Given the description of an element on the screen output the (x, y) to click on. 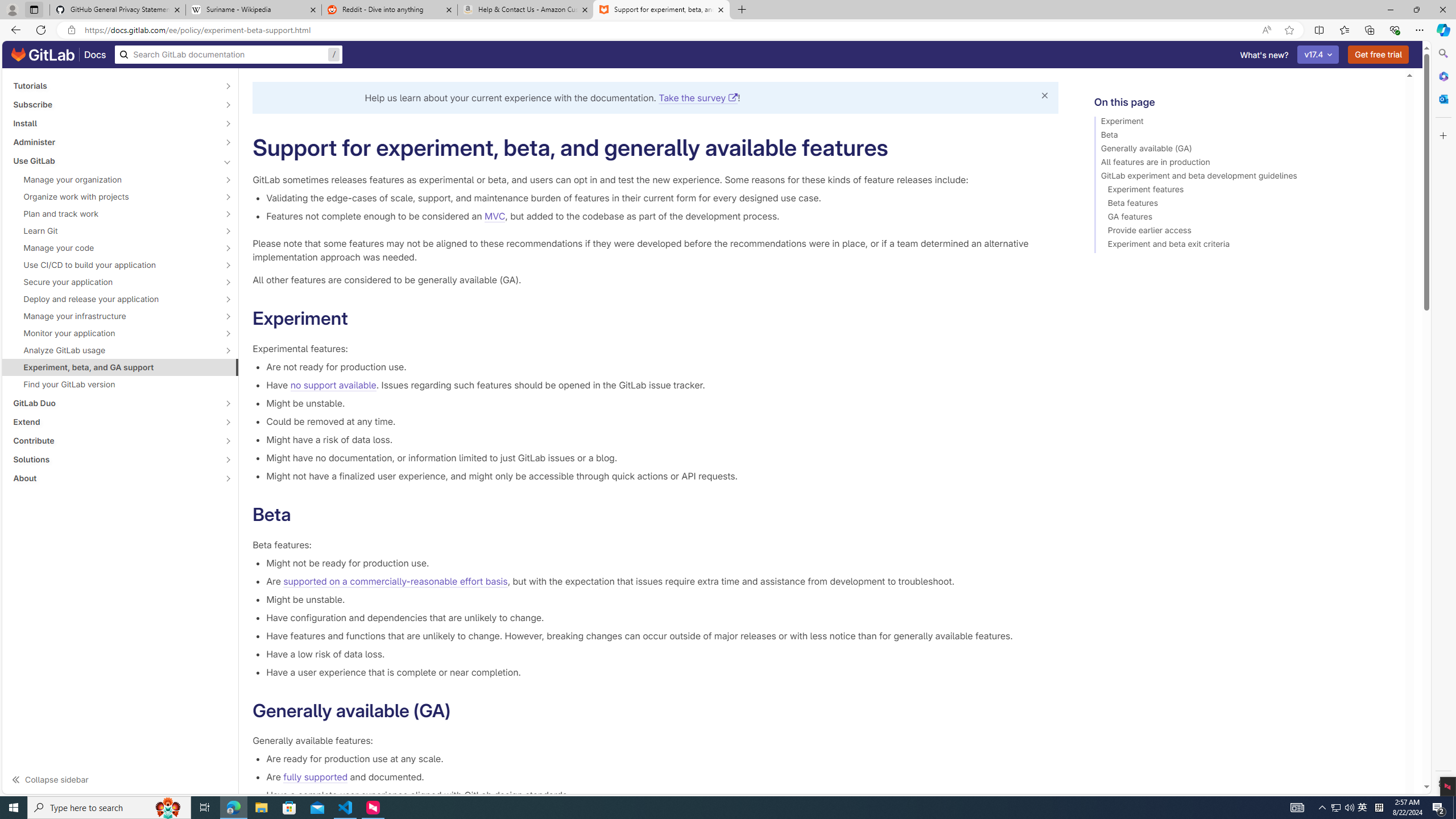
Get free trial (1378, 54)
Learn Git (113, 230)
Get free trial (1378, 54)
/ (229, 54)
Are ready for production use at any scale. (662, 758)
Beta (1244, 136)
Use CI/CD to build your application (113, 264)
Experiment and beta exit criteria (1244, 246)
Subscribe (113, 104)
GitLab experiment and beta development guidelines (1244, 177)
GitHub General Privacy Statement - GitHub Docs (117, 9)
Beta features (1244, 205)
Monitor your application (113, 333)
